Given the description of an element on the screen output the (x, y) to click on. 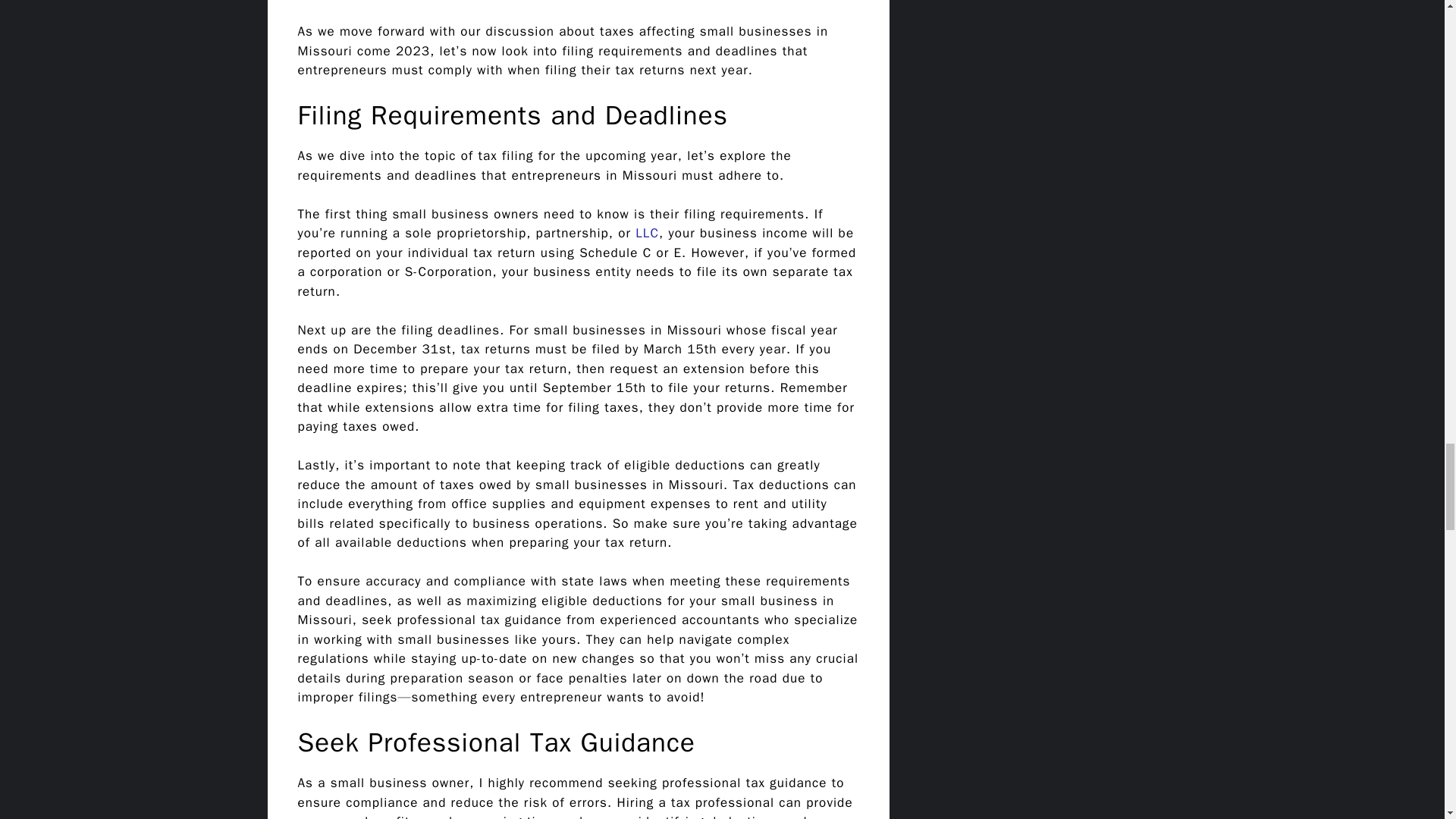
LLC (646, 232)
All You Need to Know About Creating an LLC in 2024 (646, 232)
